Given the description of an element on the screen output the (x, y) to click on. 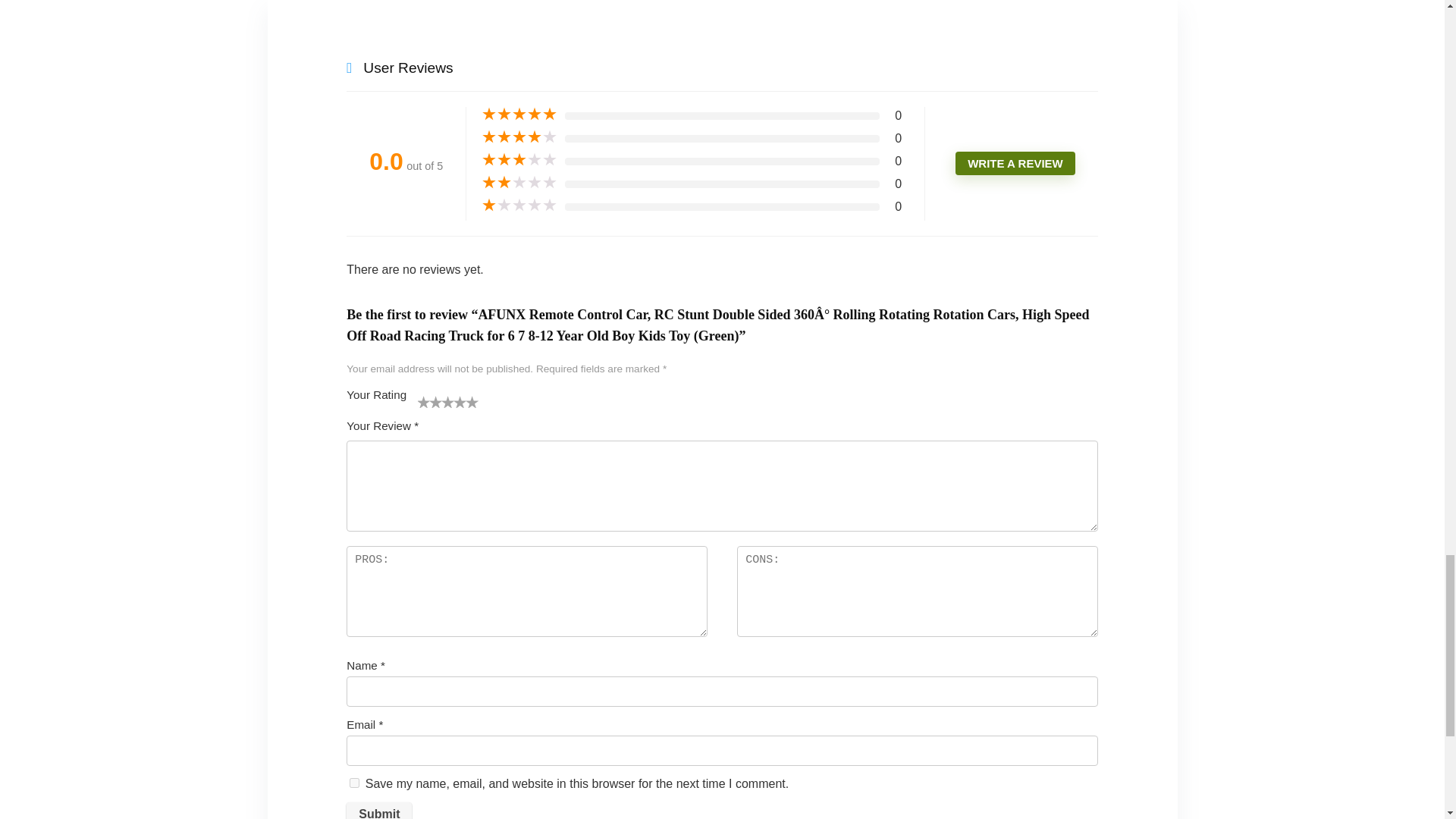
Submit (379, 810)
Rated 5 out of 5 (519, 114)
Rated 2 out of 5 (519, 182)
yes (354, 782)
Rated 4 out of 5 (519, 136)
Rated 1 out of 5 (519, 205)
WRITE A REVIEW (1015, 163)
Rated 3 out of 5 (519, 159)
